Given the description of an element on the screen output the (x, y) to click on. 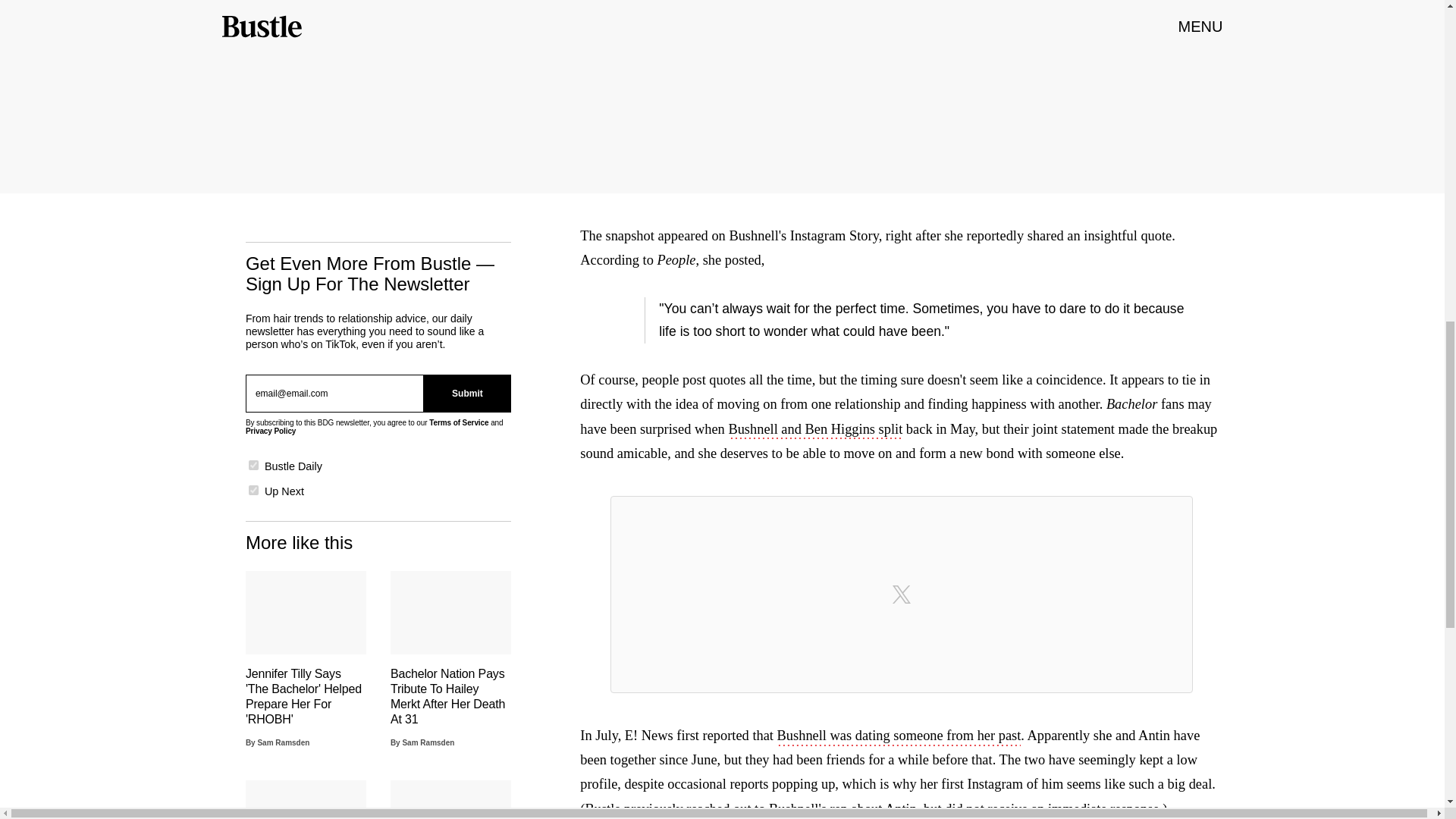
Bushnell and Ben Higgins split (815, 430)
Terms of Service (458, 422)
Bushnell was dating someone from her past (899, 737)
Privacy Policy (270, 430)
Submit (467, 393)
